Given the description of an element on the screen output the (x, y) to click on. 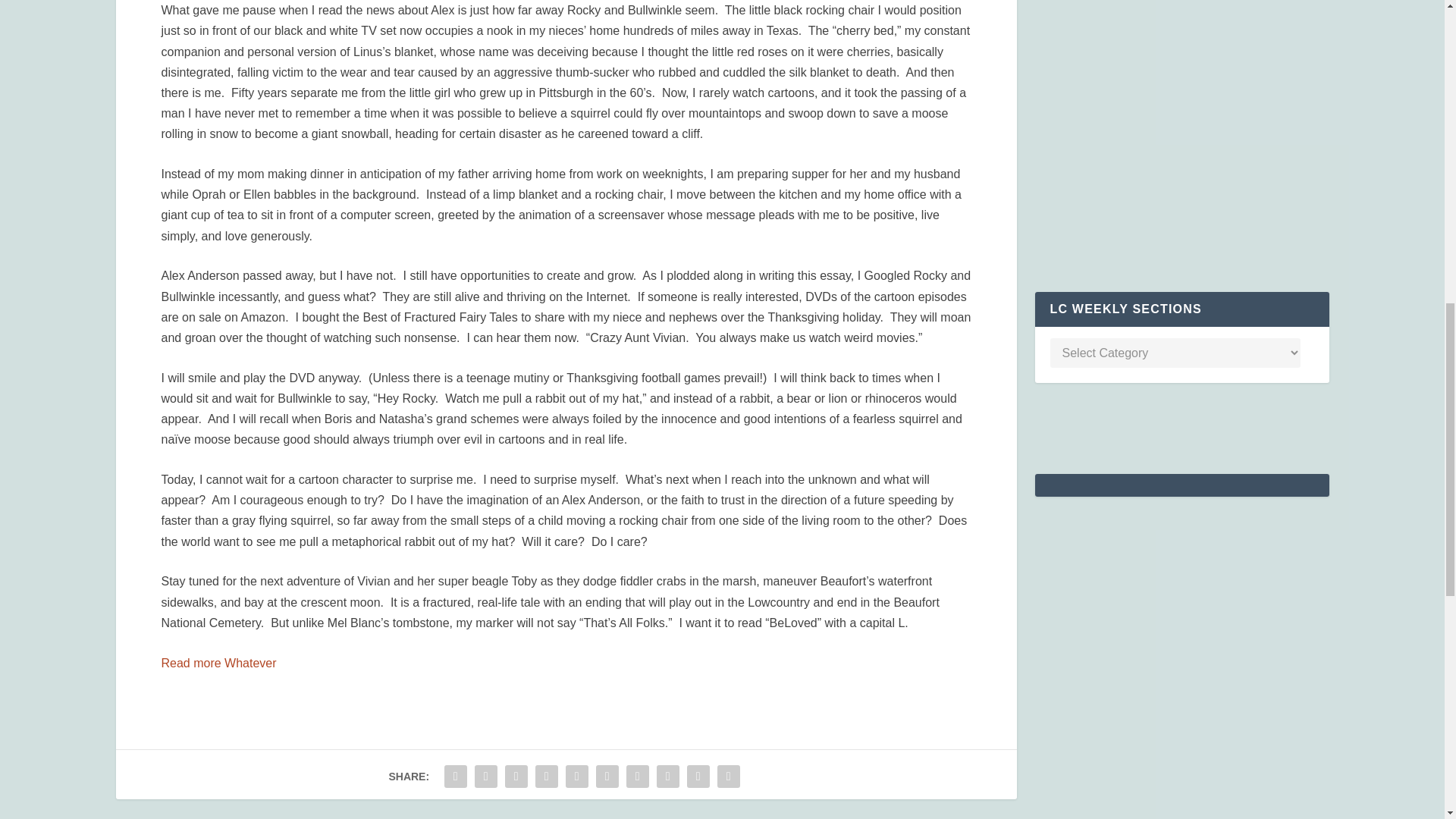
Read more Whatever (218, 662)
